Given the description of an element on the screen output the (x, y) to click on. 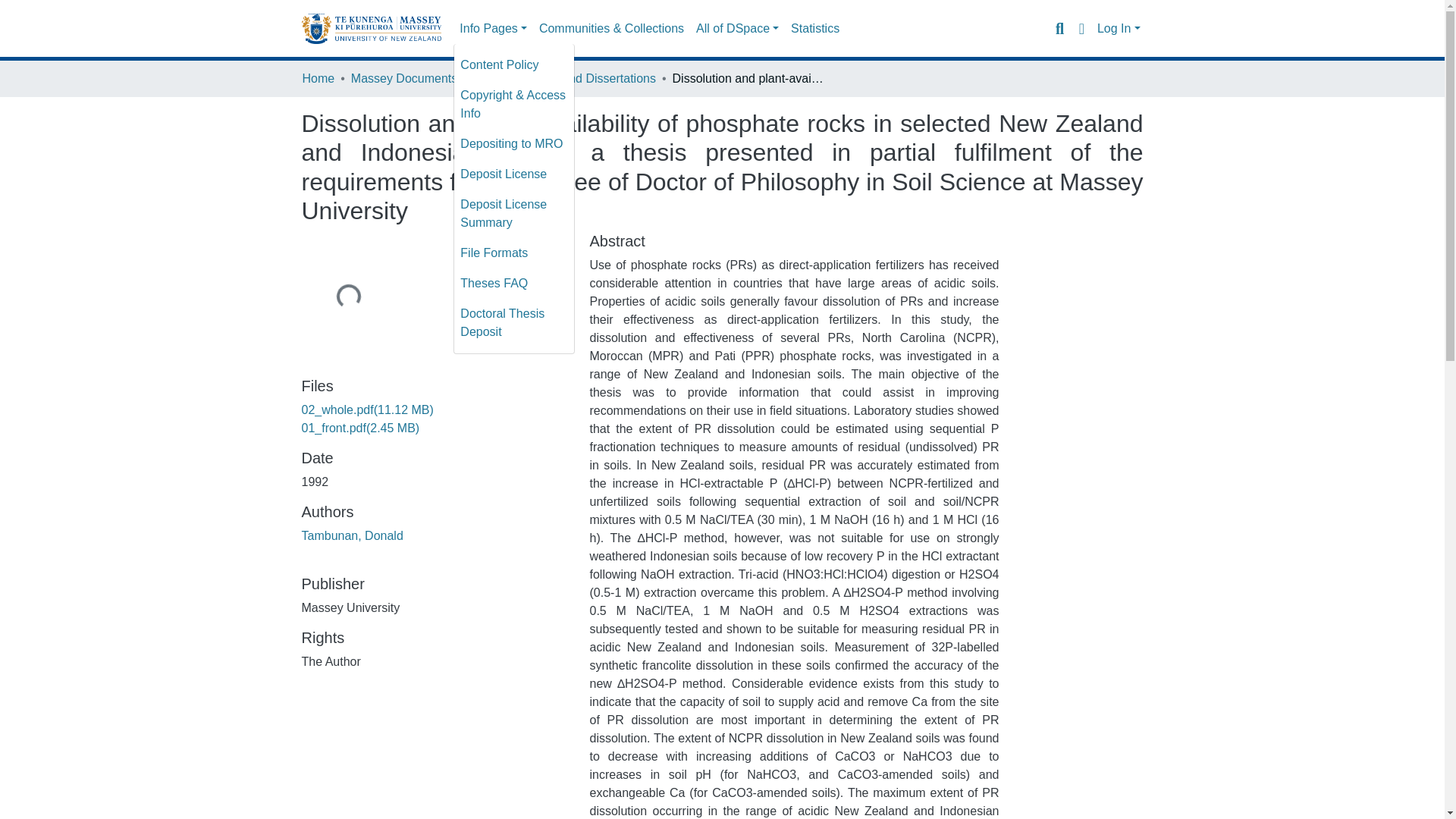
Theses and Dissertations (587, 78)
Massey Documents by Type (426, 78)
Tambunan, Donald (352, 535)
All of DSpace (737, 28)
Doctoral Thesis Deposit (513, 322)
Content Policy (513, 64)
Search (1058, 28)
Statistics (814, 28)
Home (317, 78)
Deposit License (513, 173)
